Given the description of an element on the screen output the (x, y) to click on. 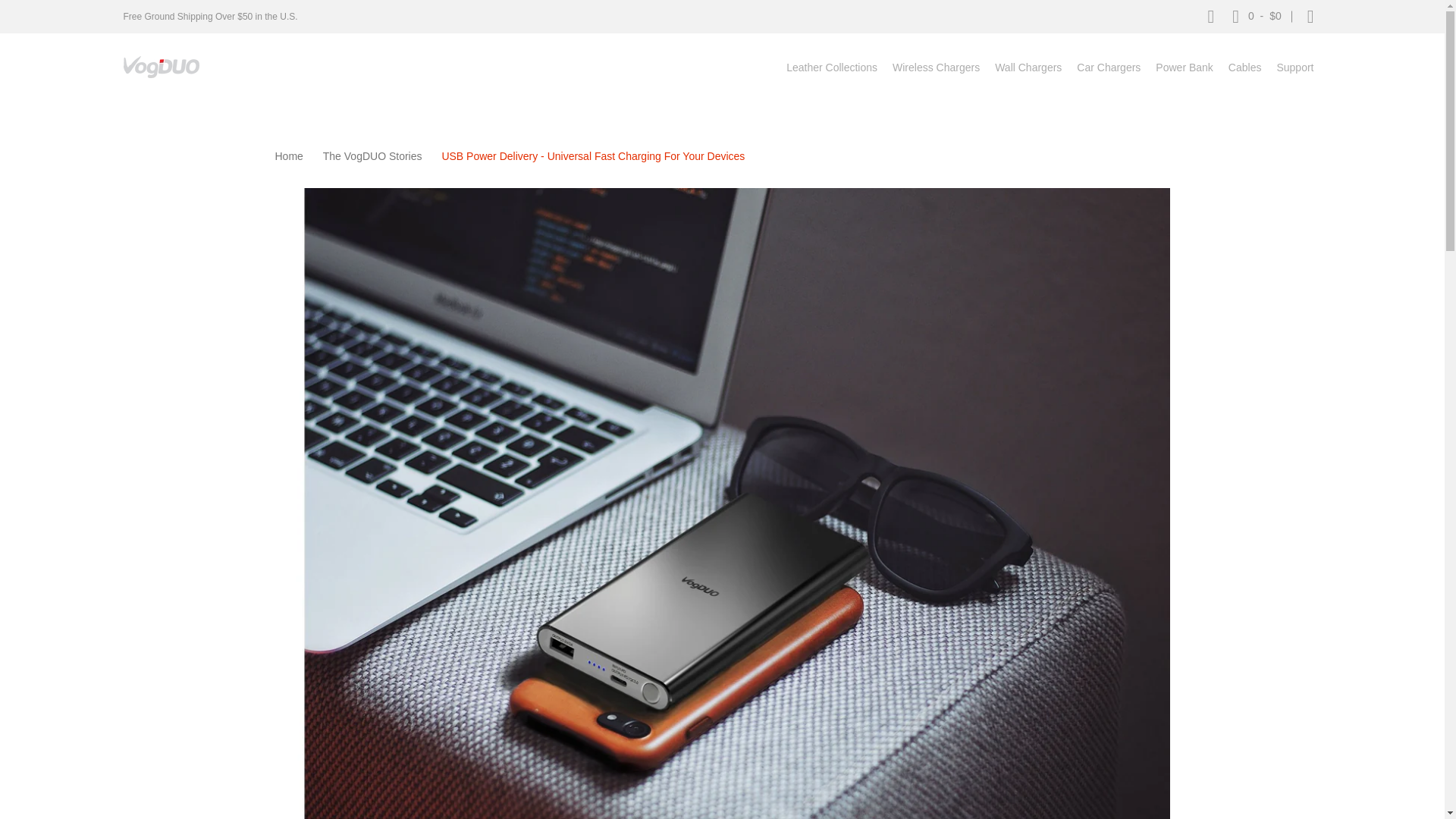
Wall Chargers (1027, 66)
Home (288, 155)
Wireless Chargers (936, 66)
VogDUO (160, 66)
The VogDUO Stories (372, 155)
Log in (1310, 16)
Wireless Chargers (936, 66)
Wall Chargers (1027, 66)
Leather Collections (831, 66)
Power Bank (1184, 66)
